Given the description of an element on the screen output the (x, y) to click on. 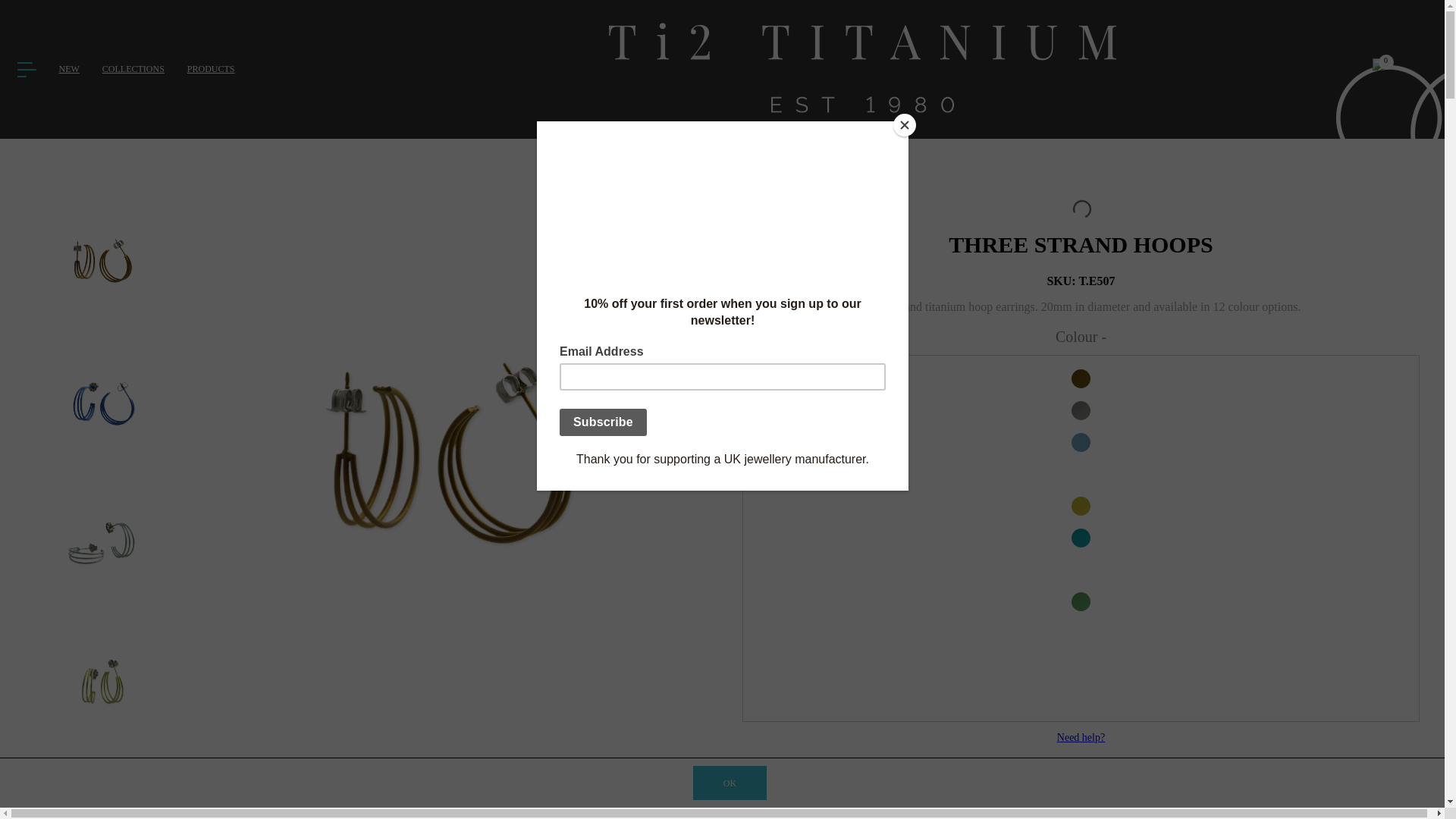
NEW (69, 69)
1 (777, 811)
PRODUCTS (210, 69)
COLLECTIONS (132, 69)
0 (1378, 68)
Ti2 Titanium (862, 67)
